Given the description of an element on the screen output the (x, y) to click on. 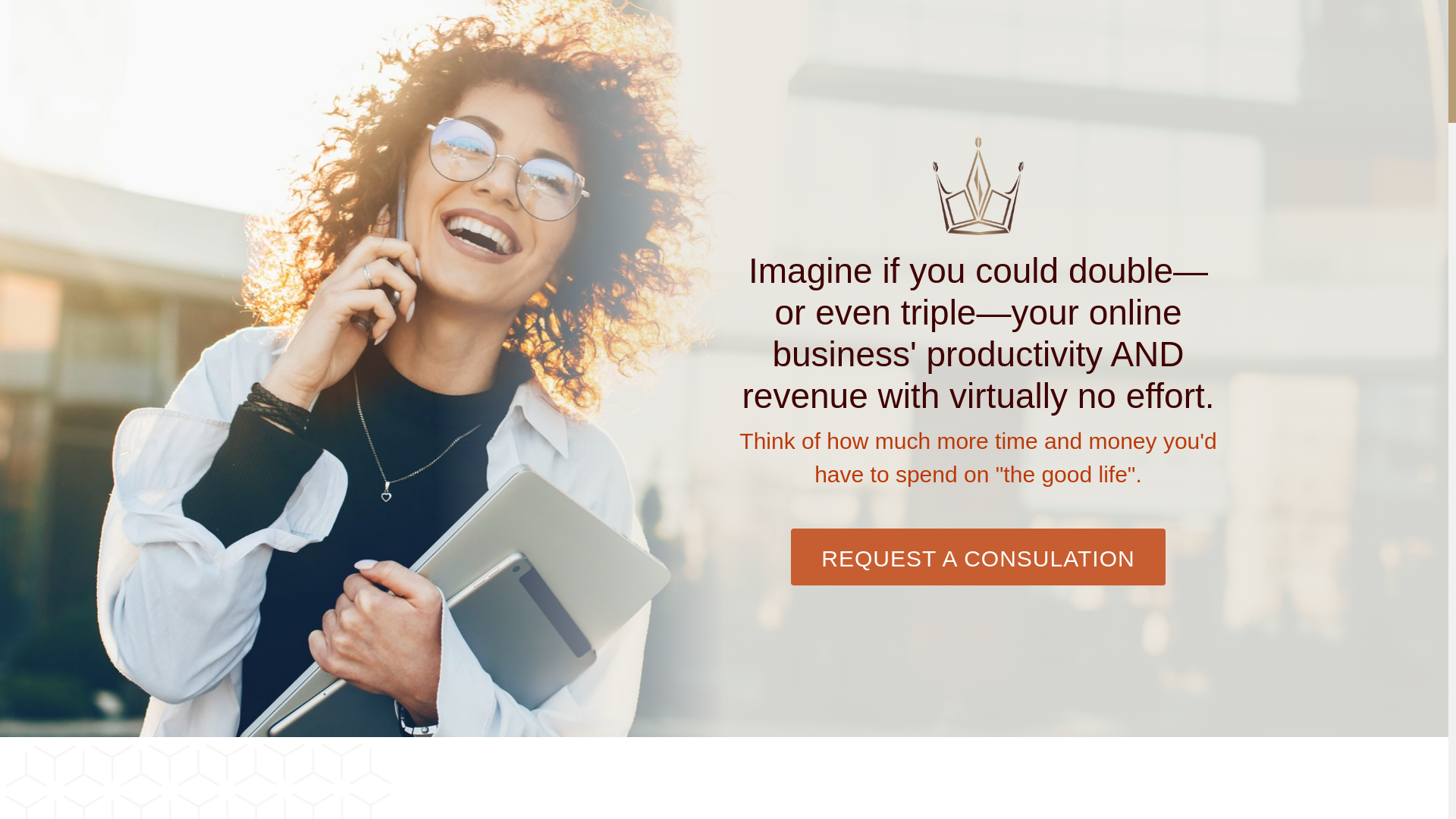
REQUEST A CONSULATION (977, 648)
Logo-Icon-square (977, 198)
